Given the description of an element on the screen output the (x, y) to click on. 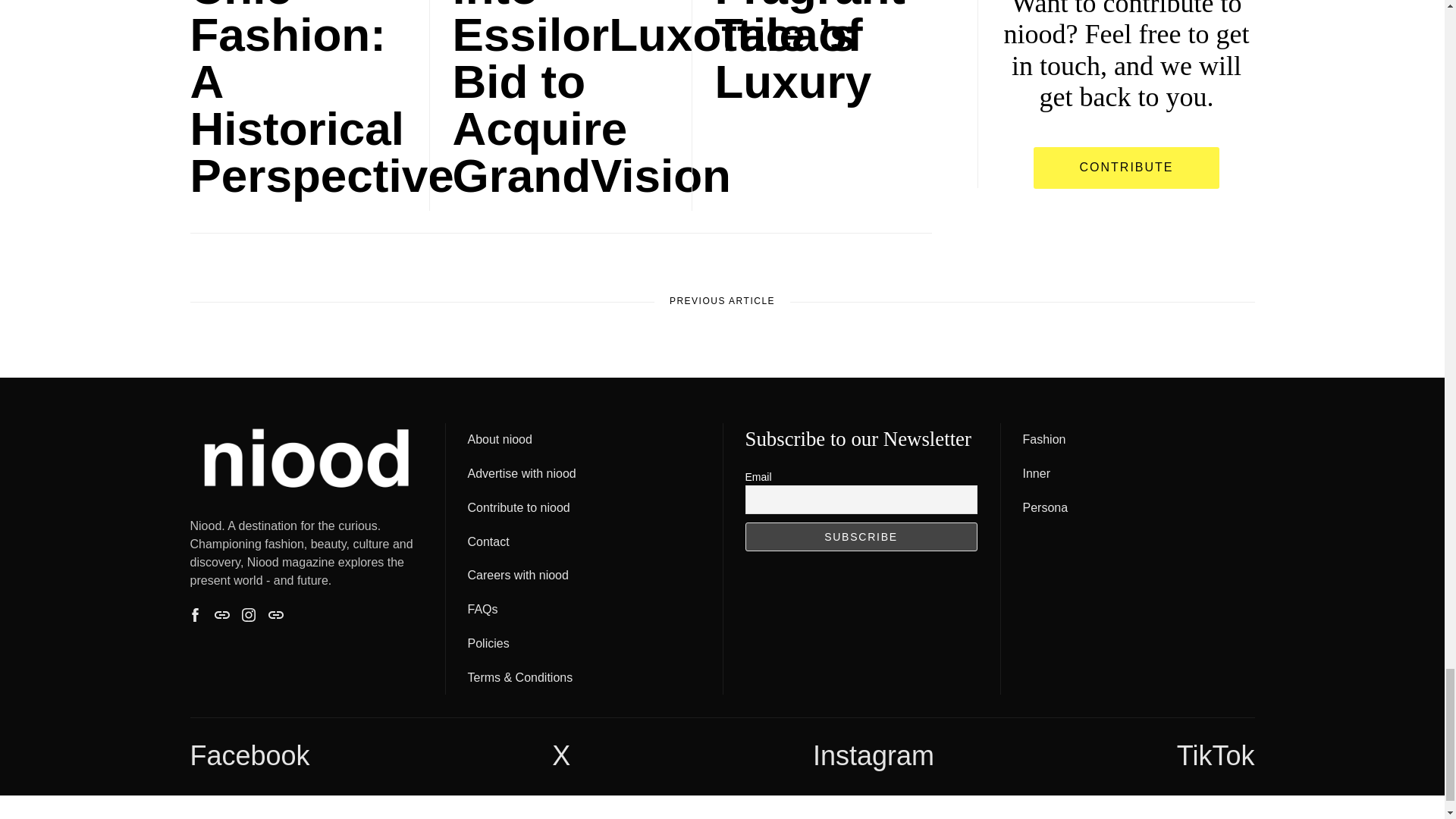
Subscribe (860, 536)
